Given the description of an element on the screen output the (x, y) to click on. 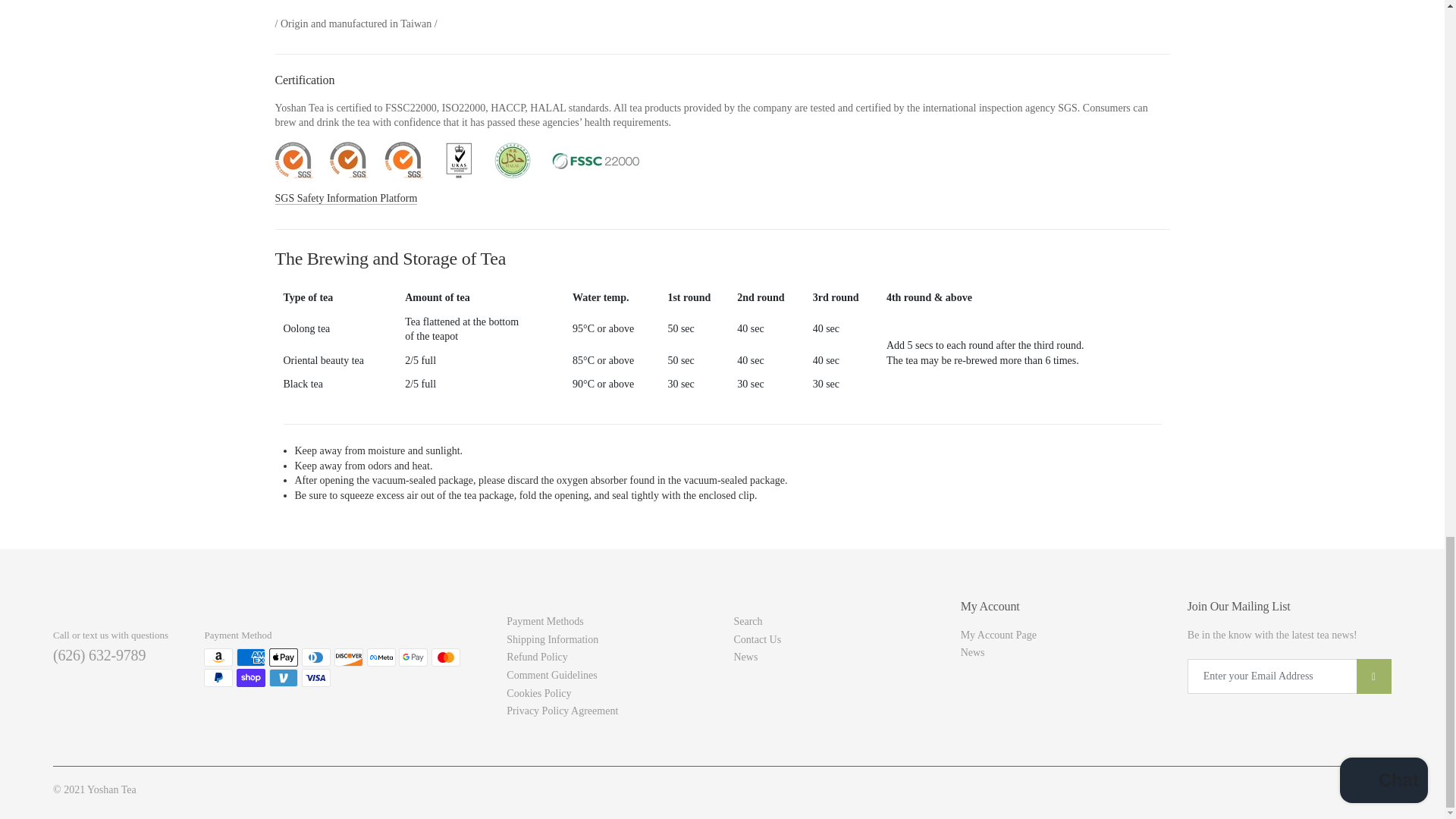
PayPal (217, 678)
Amazon (217, 657)
Mastercard (445, 657)
Diners Club (315, 657)
Visa (315, 678)
Apple Pay (283, 657)
Google Pay (413, 657)
Venmo (283, 678)
American Express (249, 657)
Shop Pay (249, 678)
